Given the description of an element on the screen output the (x, y) to click on. 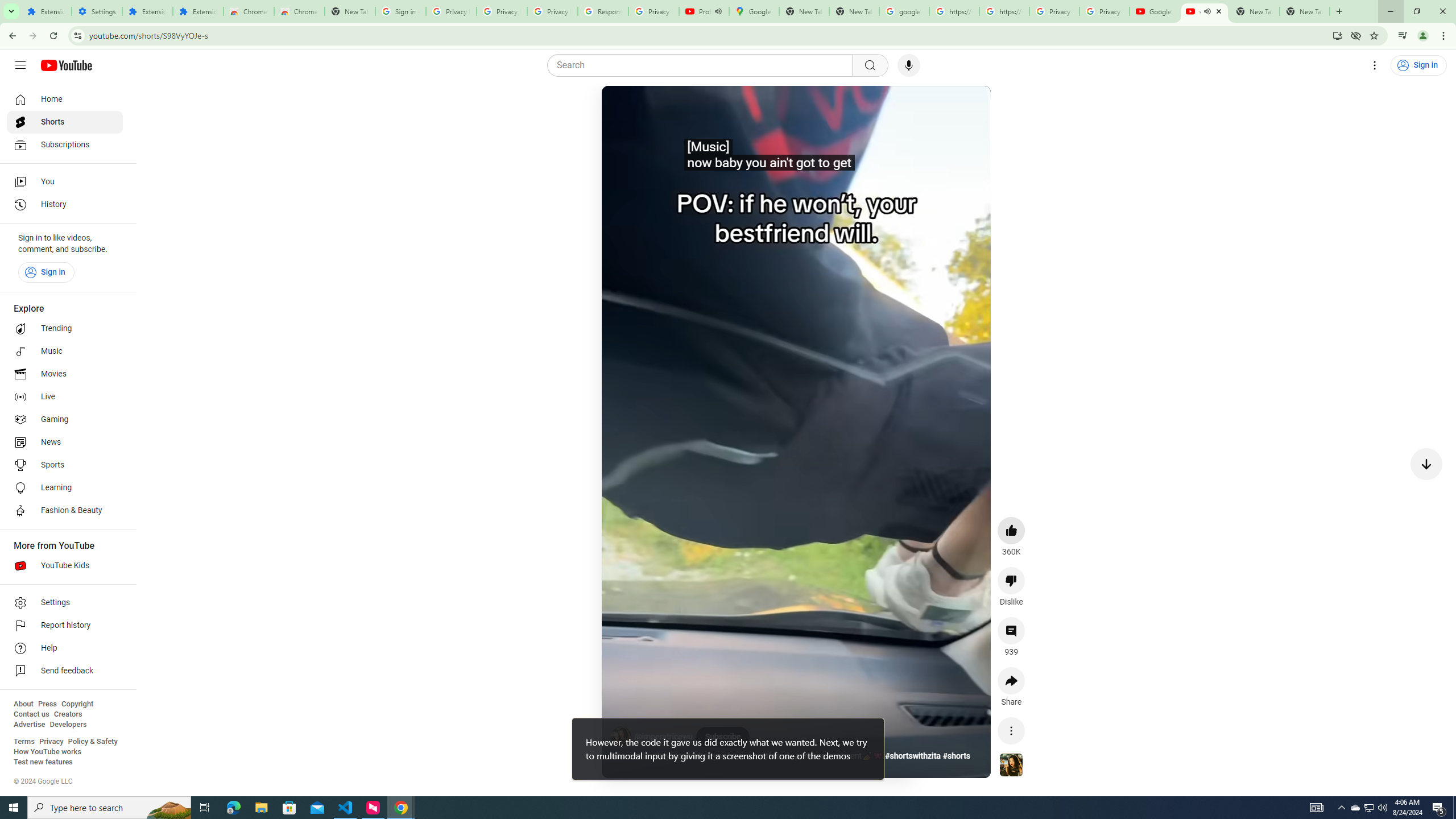
Terms (23, 741)
History (64, 204)
YouTube Kids (64, 565)
Settings (97, 11)
Extensions (197, 11)
Fashion & Beauty (64, 510)
Help (64, 648)
Contact us (31, 714)
Settings (1374, 65)
Control your music, videos, and more (1402, 35)
Test new features (42, 761)
See more videos using this sound (1011, 765)
News (64, 441)
